Given the description of an element on the screen output the (x, y) to click on. 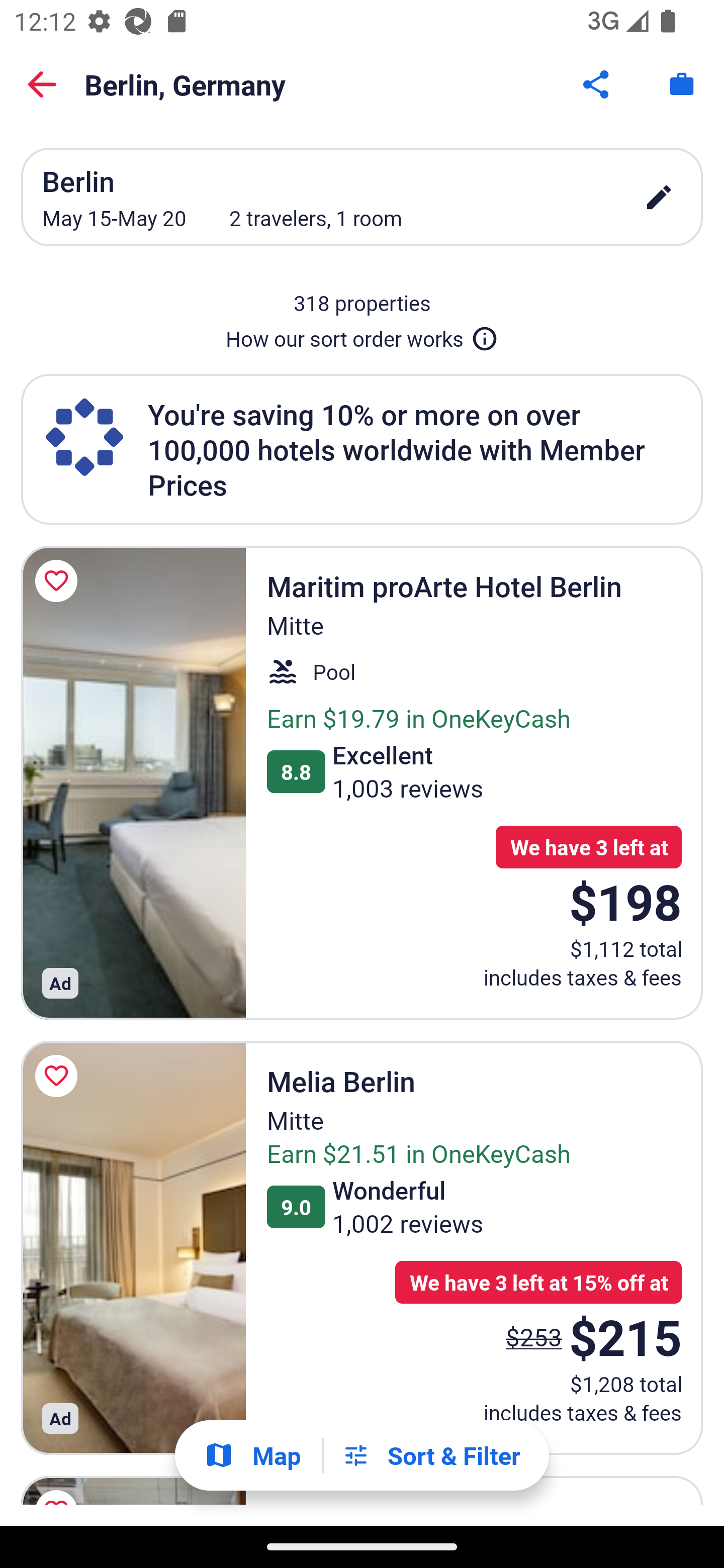
Back (42, 84)
Share Button (597, 84)
Trips. Button (681, 84)
Berlin May 15-May 20 2 travelers, 1 room edit (361, 196)
How our sort order works (361, 334)
Save Maritim proArte Hotel Berlin to a trip (59, 580)
Maritim proArte Hotel Berlin (133, 782)
Save Melia Berlin to a trip (59, 1075)
Melia Berlin (133, 1248)
$253 The price was $253 (533, 1336)
Filters Sort & Filter Filters Button (430, 1455)
Show map Map Show map Button (252, 1455)
